Given the description of an element on the screen output the (x, y) to click on. 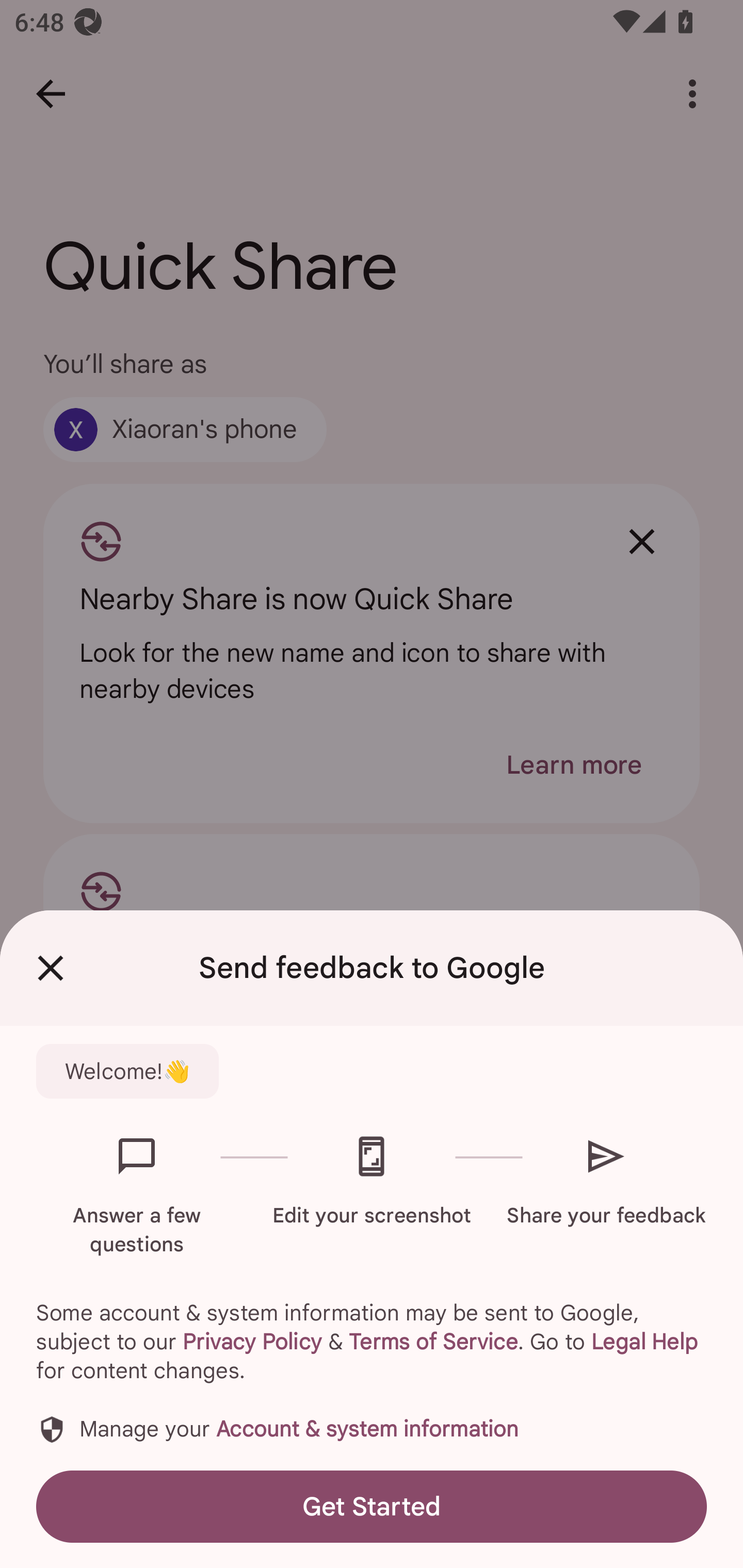
Close Feedback (50, 968)
Get Started (371, 1505)
